Given the description of an element on the screen output the (x, y) to click on. 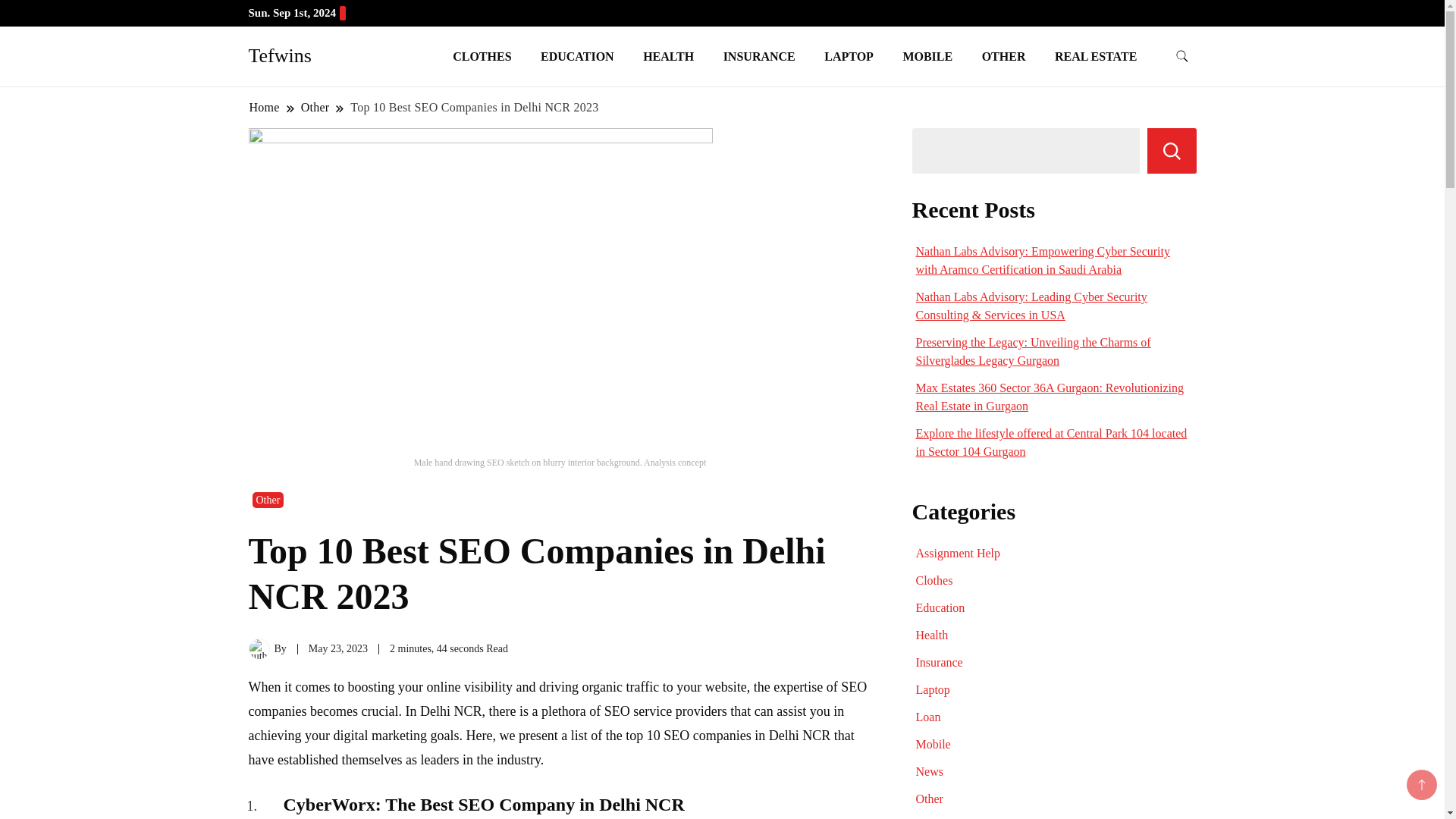
LAPTOP (848, 56)
Tefwins (279, 55)
CLOTHES (481, 56)
Other (314, 106)
May 23, 2023 (338, 648)
Other (267, 499)
EDUCATION (577, 56)
HEALTH (668, 56)
INSURANCE (759, 56)
Top 10 Best SEO Companies in Delhi NCR 2023 (473, 106)
